Given the description of an element on the screen output the (x, y) to click on. 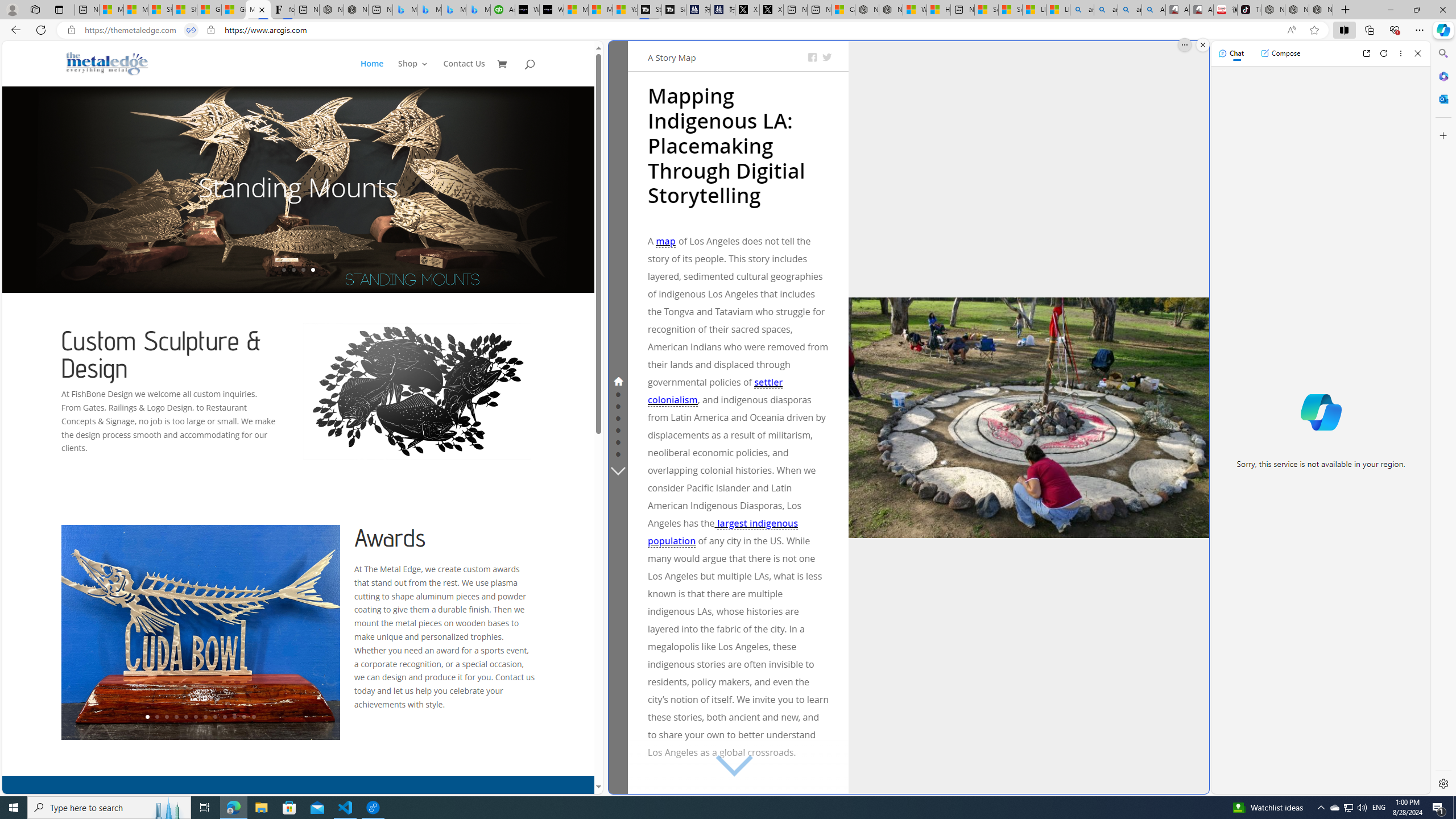
amazon - Search Images (1129, 9)
Return to narrative (1031, 776)
amazon - Search (1105, 9)
Share on Facebook (812, 57)
Go to section 4: Kuruvungna  (617, 417)
Amazon Echo Robot - Search Images (1153, 9)
9 (224, 716)
Settings (1442, 783)
More options. (1183, 45)
Huge shark washes ashore at New York City beach | Watch (938, 9)
Home (377, 72)
